Given the description of an element on the screen output the (x, y) to click on. 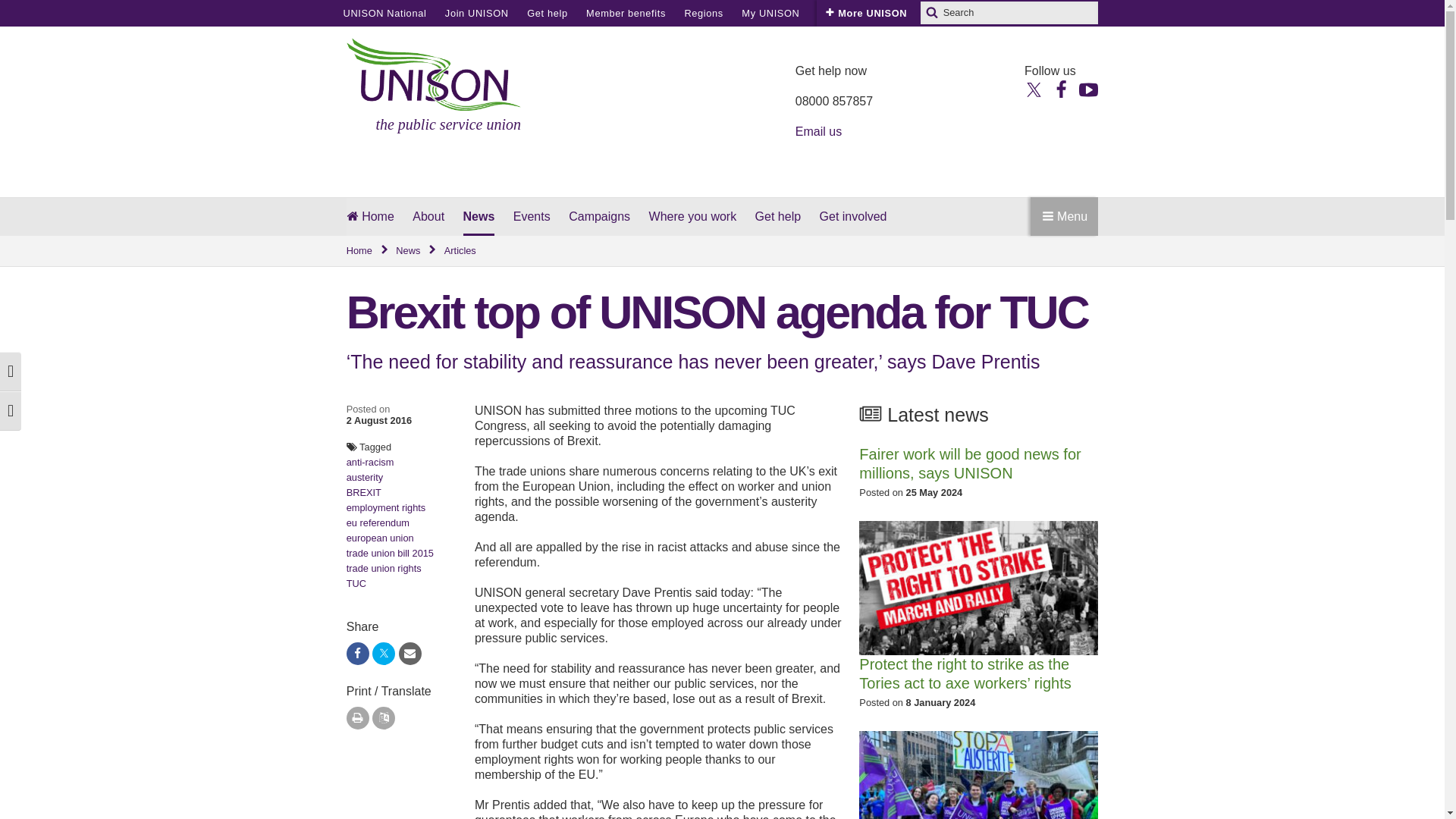
Get help (547, 13)
Twitter (1034, 88)
Articles (460, 250)
Member benefits (625, 13)
Other sites (844, 13)
Menu (1063, 216)
News (417, 250)
Youtube (1087, 88)
Facebook (1060, 88)
More UNISON (865, 13)
Email us (817, 131)
Search (931, 12)
My UNISON (770, 13)
